Given the description of an element on the screen output the (x, y) to click on. 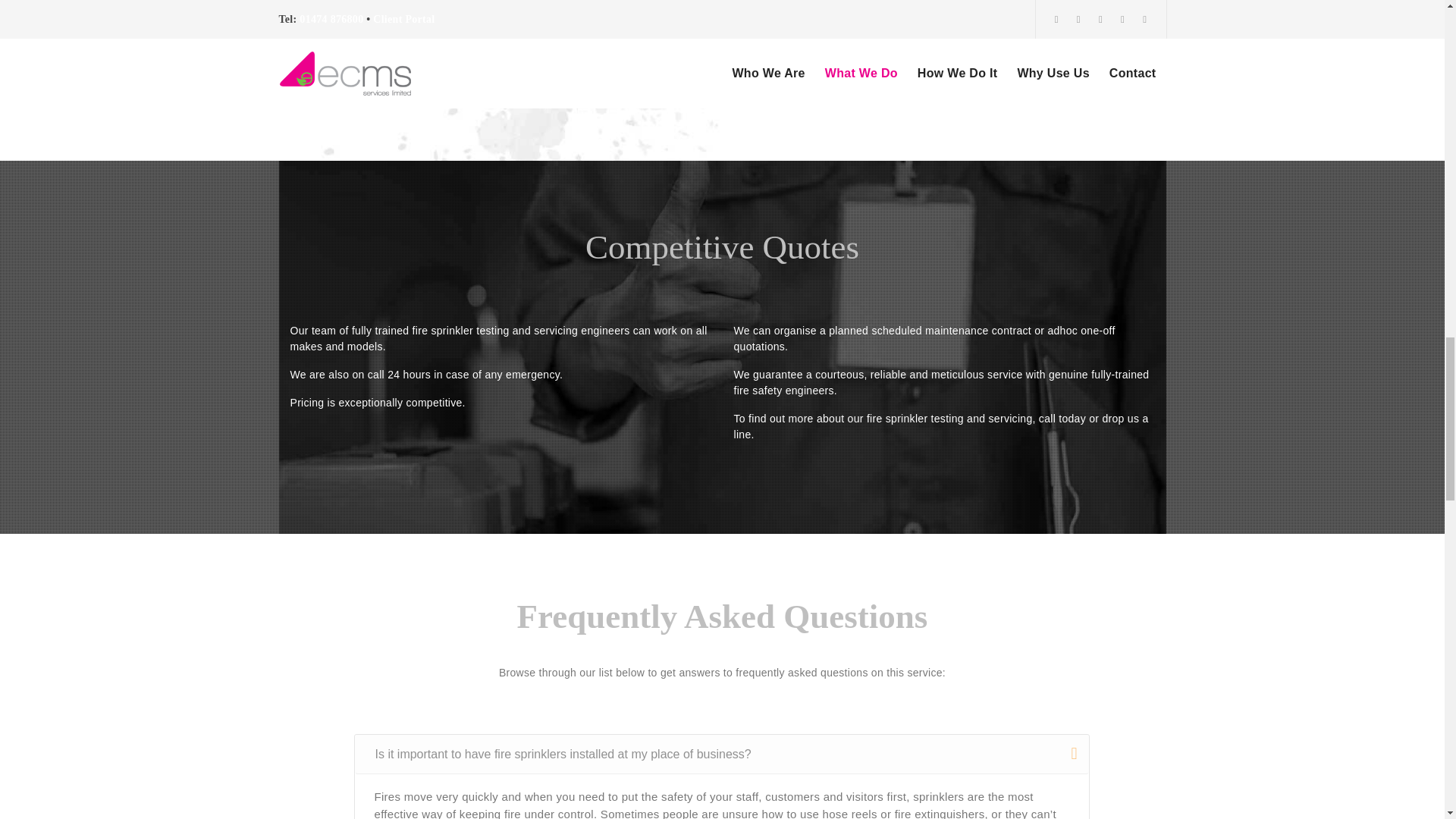
ECMS Icon (380, 20)
